Given the description of an element on the screen output the (x, y) to click on. 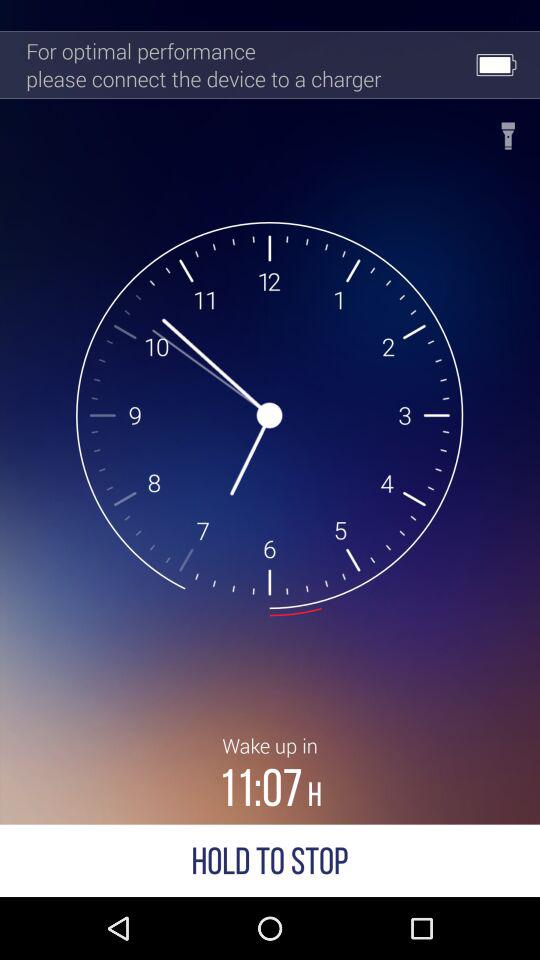
click torch option (508, 129)
